Given the description of an element on the screen output the (x, y) to click on. 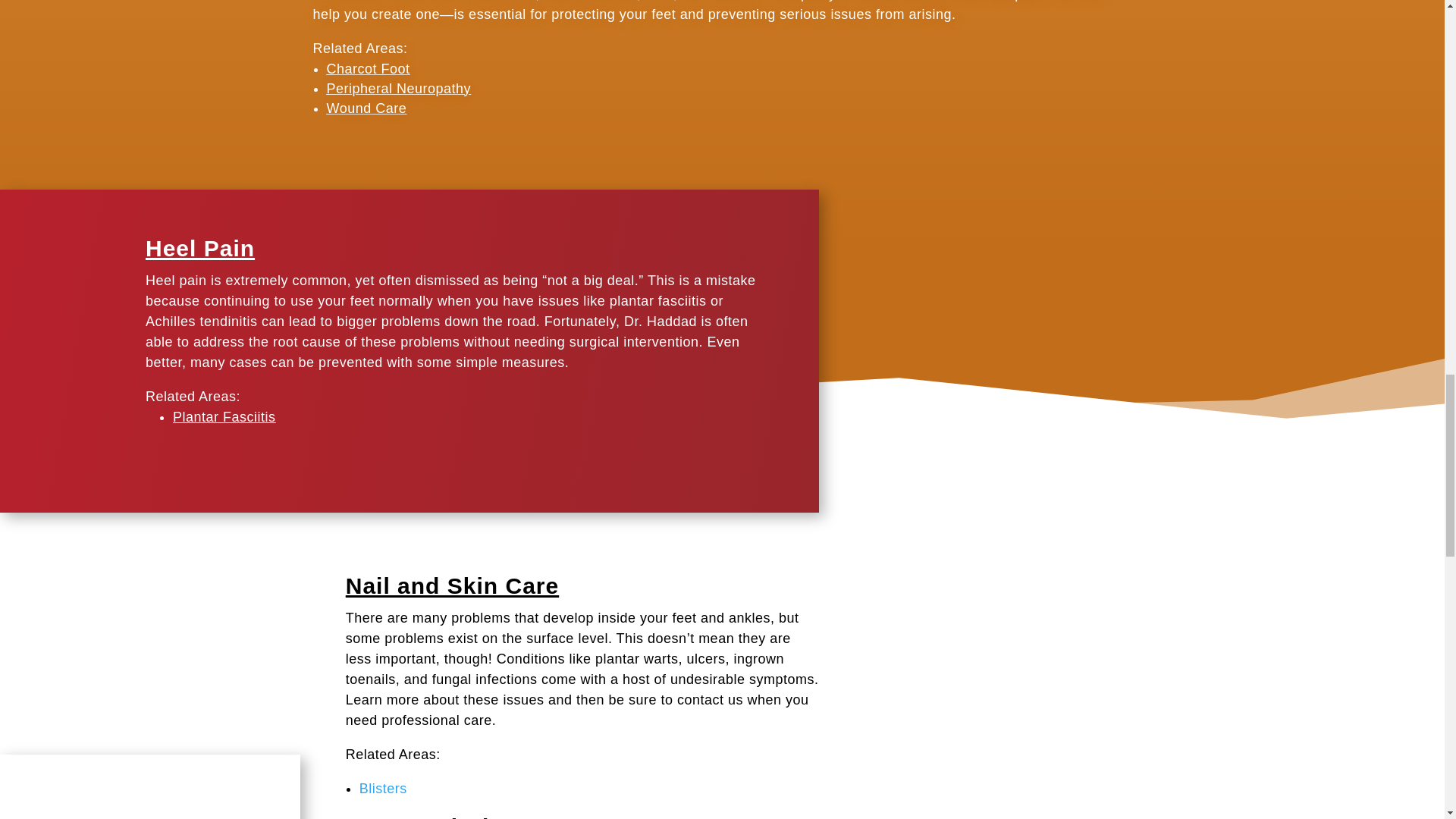
Podiatry Services (149, 786)
